Given the description of an element on the screen output the (x, y) to click on. 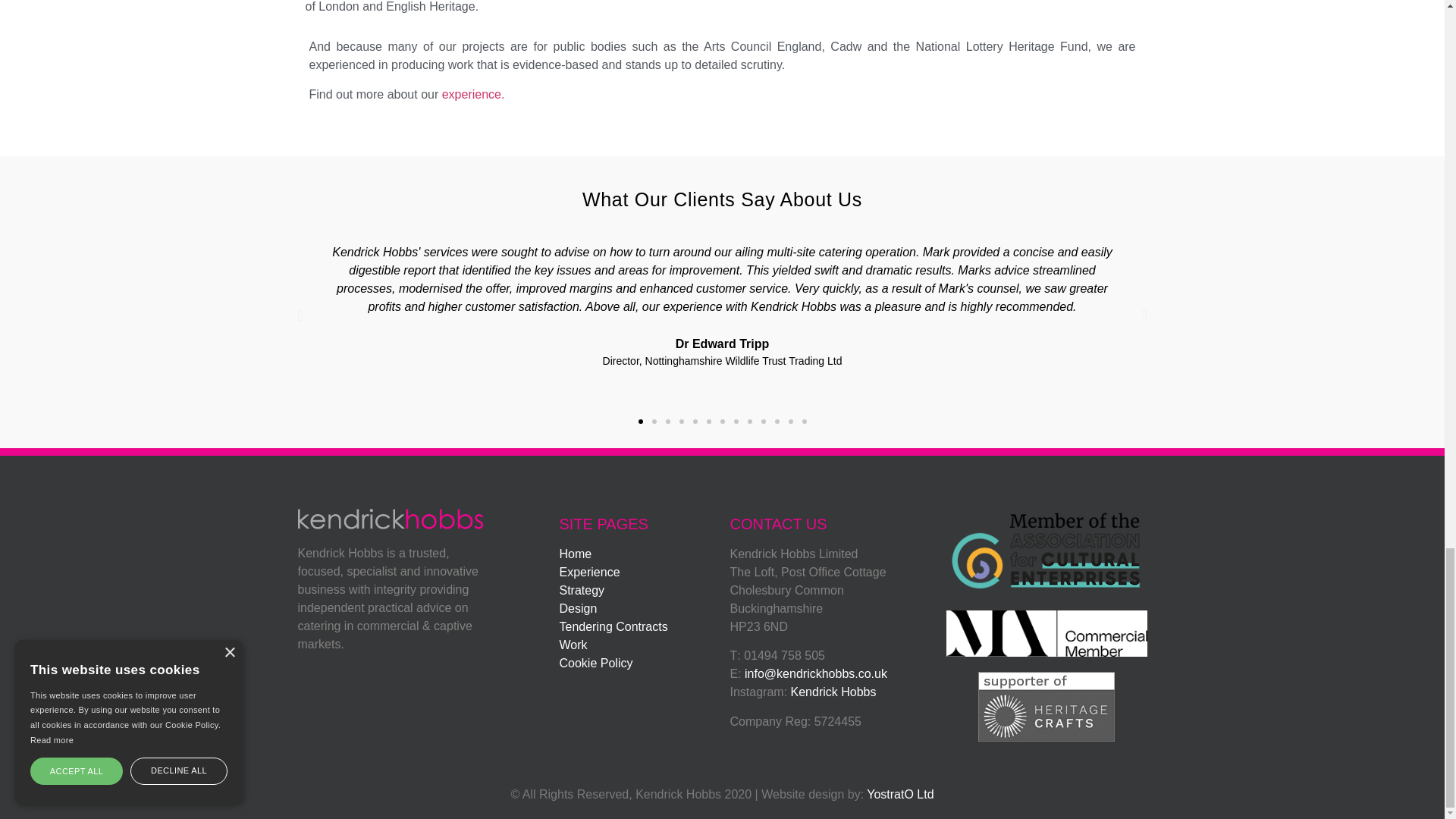
Work (573, 644)
Experience (589, 571)
Cookie Policy (596, 662)
experience. (473, 93)
Home (575, 553)
 YostratO Ltd (898, 793)
Kendrick Hobbs (833, 691)
Design (577, 608)
Strategy (582, 590)
Tendering Contracts (613, 626)
